Given the description of an element on the screen output the (x, y) to click on. 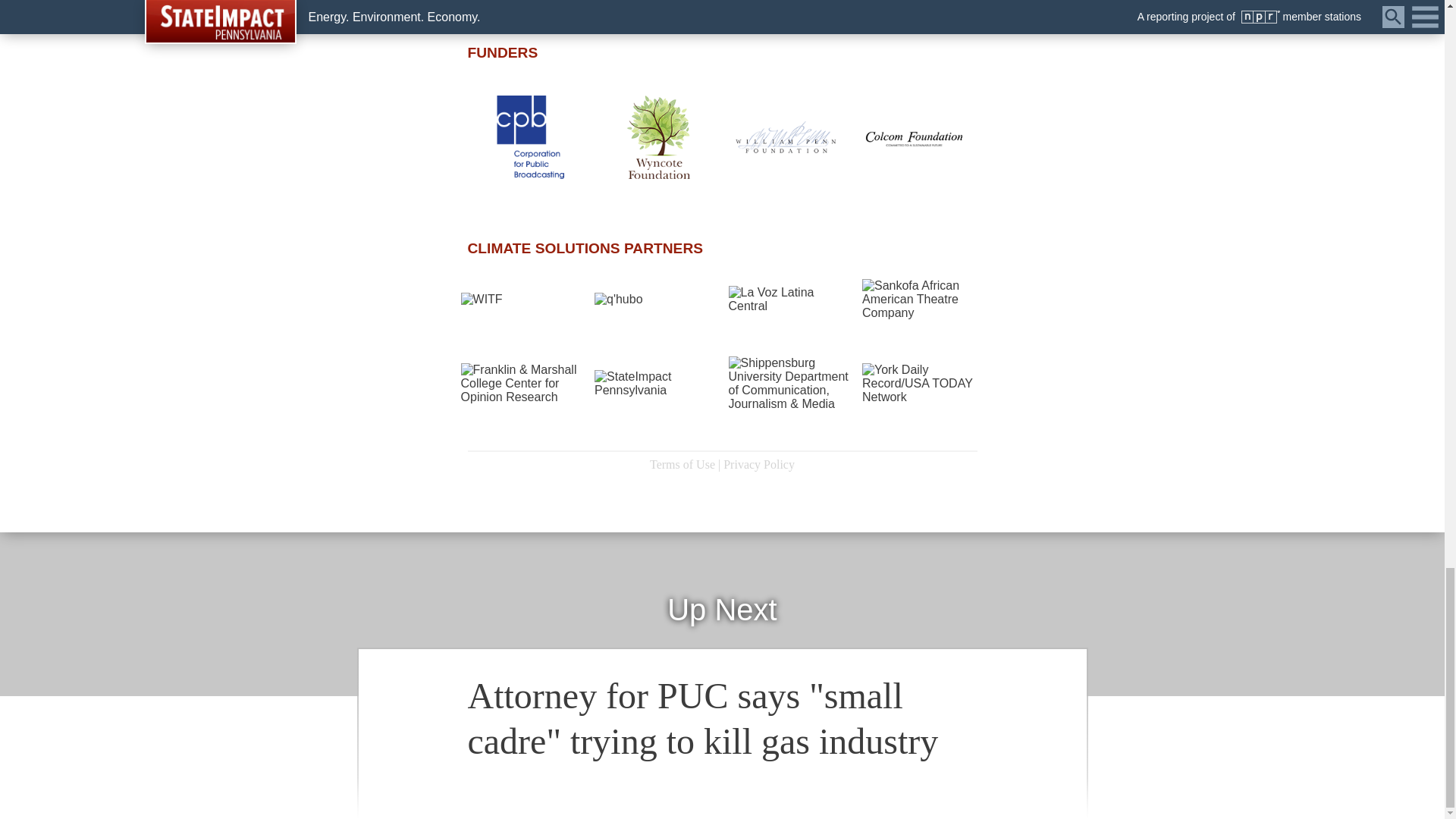
WITF (551, 3)
Wyncote Foundation (658, 137)
William Penn Foundation (785, 137)
Corporation for Public Broadcasting (530, 137)
The Allegheny Front (891, 0)
